Given the description of an element on the screen output the (x, y) to click on. 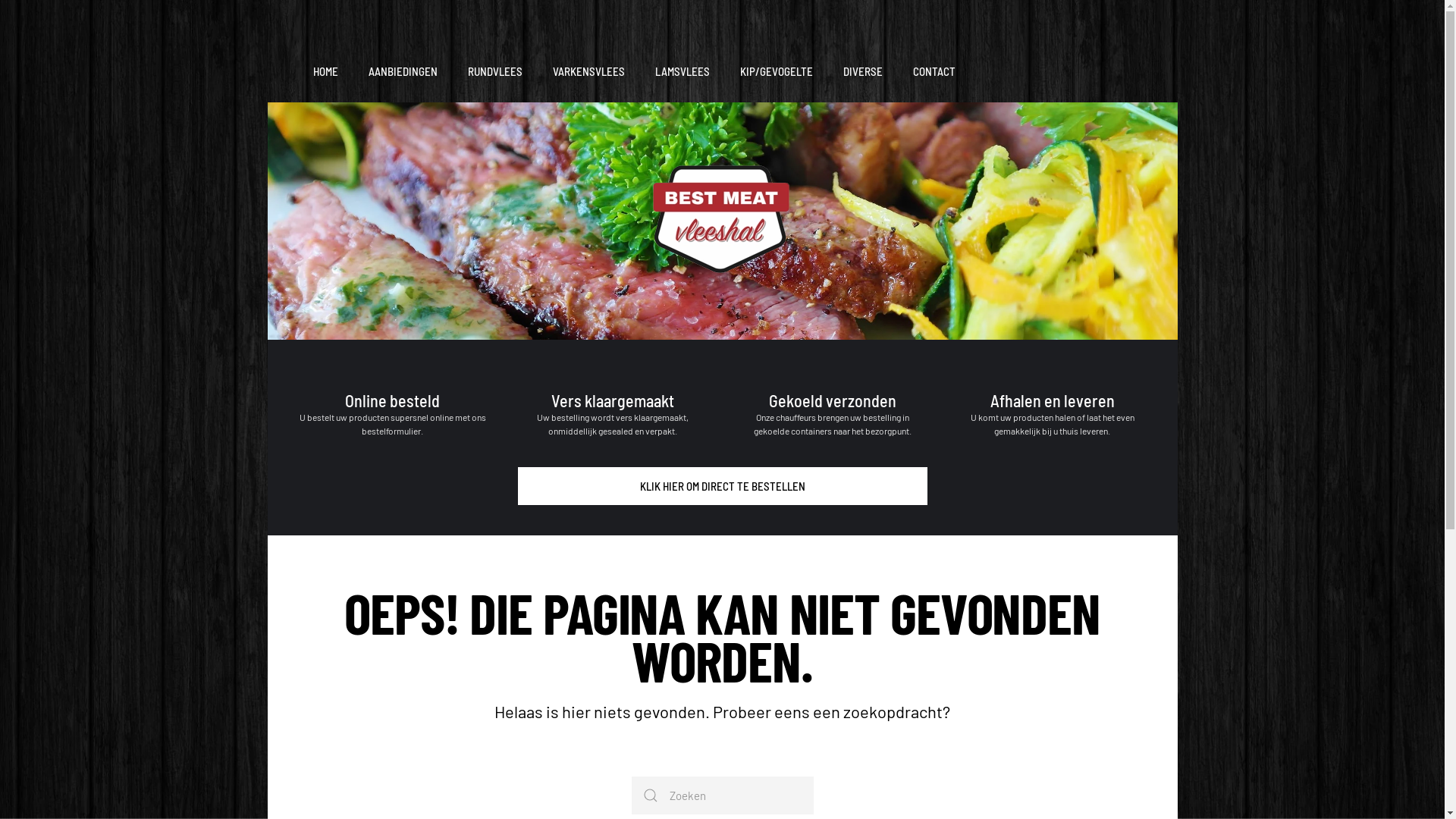
KIP/GEVOGELTE Element type: text (776, 71)
RUNDVLEES Element type: text (493, 71)
CONTACT Element type: text (933, 71)
LAMSVLEES Element type: text (682, 71)
KLIK HIER OM DIRECT TE BESTELLEN Element type: text (721, 486)
VARKENSVLEES Element type: text (587, 71)
DIVERSE Element type: text (862, 71)
HOME Element type: text (324, 71)
AANBIEDINGEN Element type: text (402, 71)
